Given the description of an element on the screen output the (x, y) to click on. 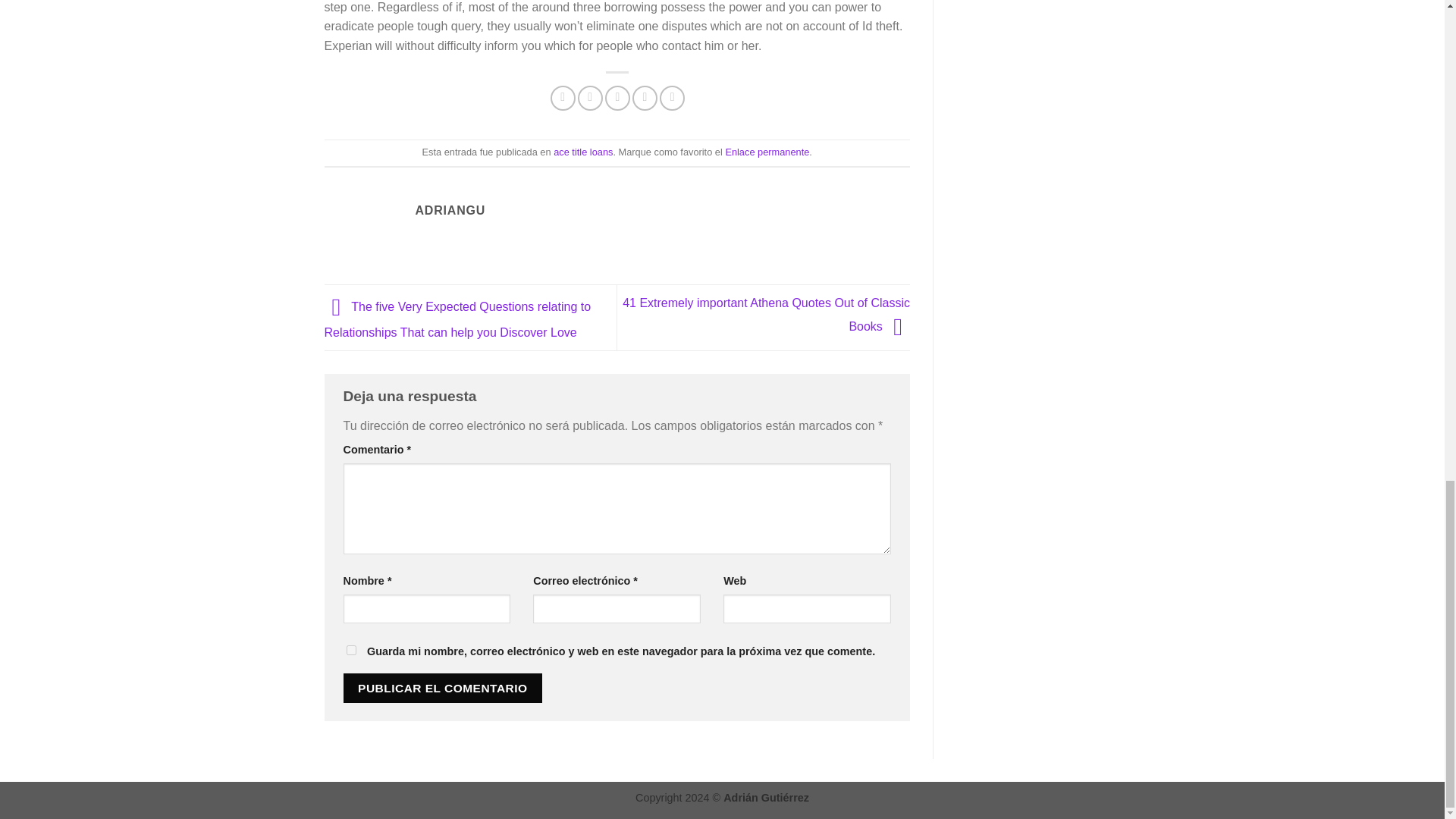
Compartir en Facebook (562, 97)
ace title loans (582, 152)
Compartir en LinkedIn (671, 97)
Compartir en Twitter (590, 97)
Publicar el comentario (441, 687)
Pinear en Pinterest (644, 97)
Enlace permanente (767, 152)
Publicar el comentario (441, 687)
yes (350, 650)
41 Extremely important Athena Quotes Out of Classic Books (766, 314)
